Given the description of an element on the screen output the (x, y) to click on. 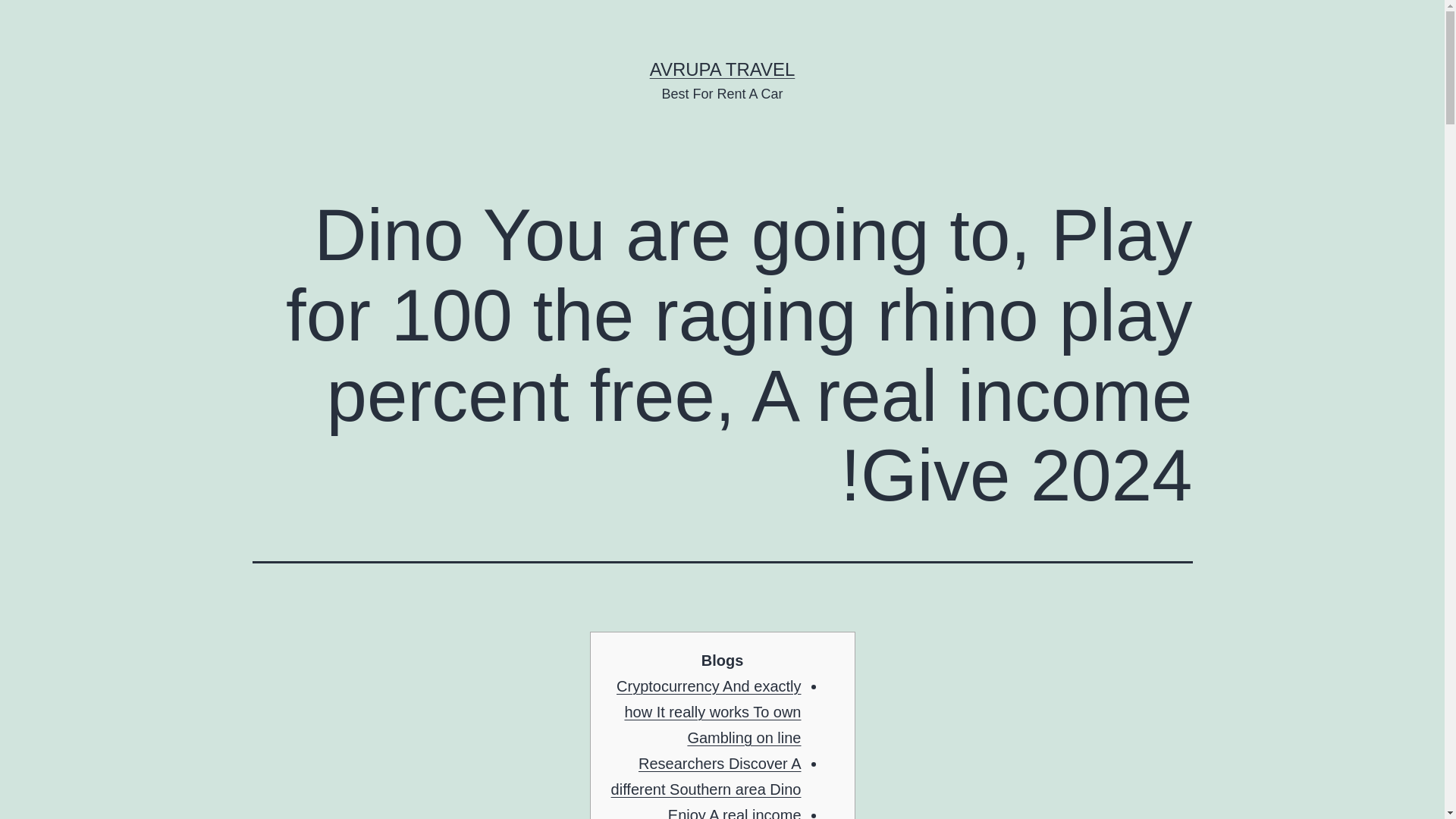
AVRUPA TRAVEL (721, 68)
Researchers Discover A different Southern area Dino (706, 776)
Enjoy A real income Gambling games Inside Pa (709, 812)
